Given the description of an element on the screen output the (x, y) to click on. 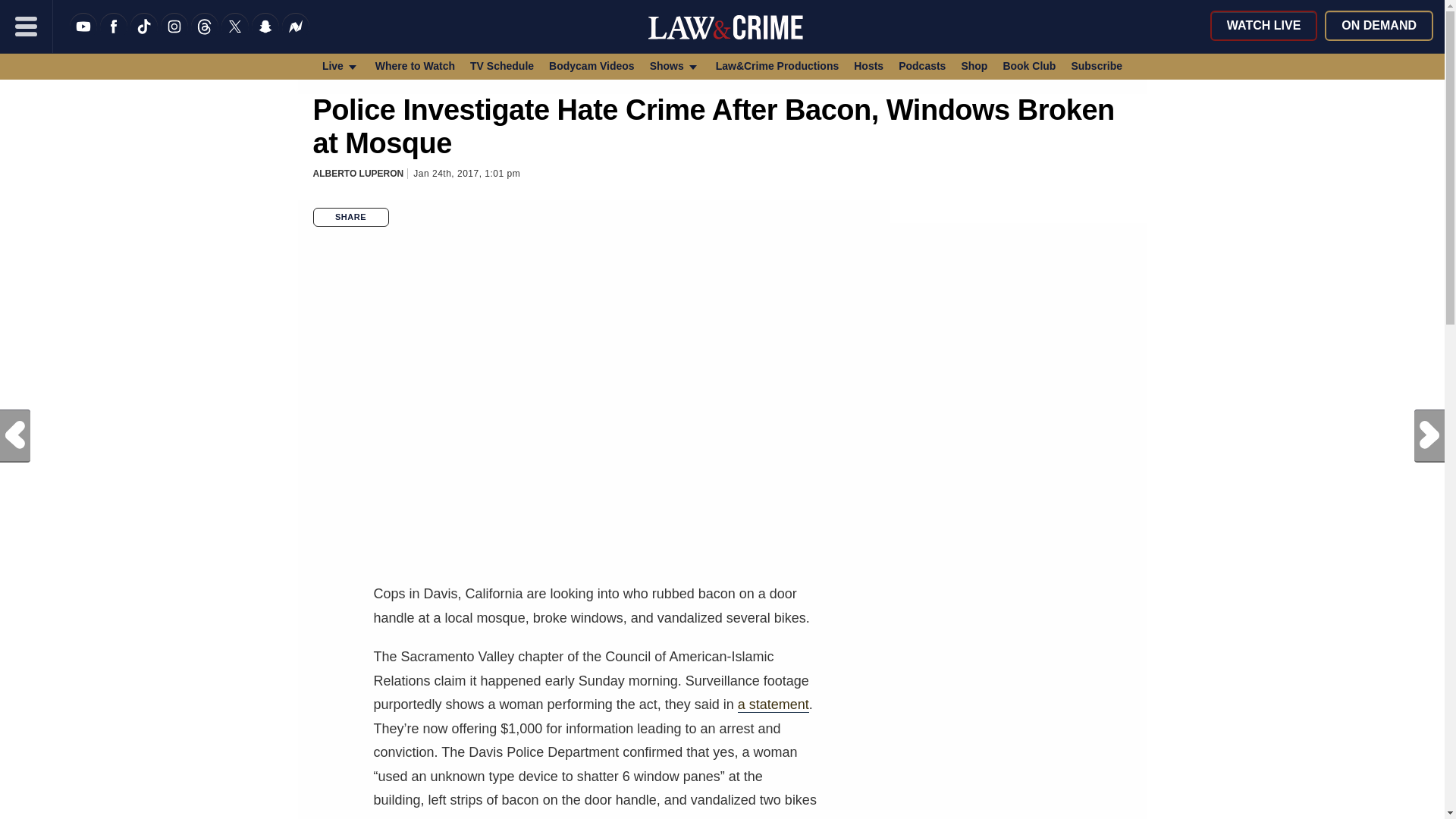
News Break (295, 35)
TikTok (144, 35)
Posts by Alberto Luperon (358, 173)
YouTube (83, 35)
Instagram (173, 35)
Threads (204, 35)
Like us on Facebook (114, 35)
Snapchat (265, 35)
